Given the description of an element on the screen output the (x, y) to click on. 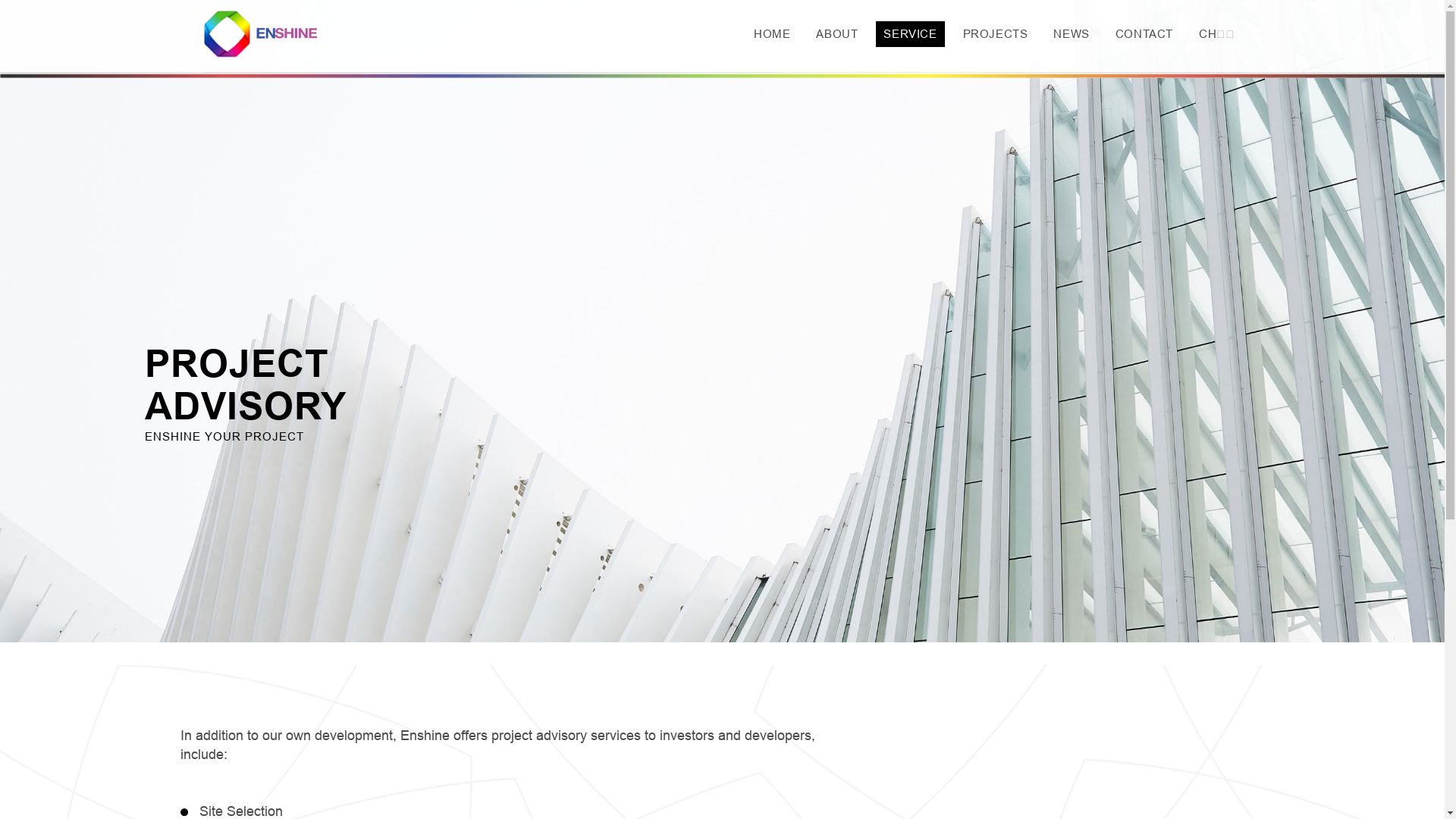
CONTACT Element type: text (1143, 34)
SERVICE Element type: text (909, 34)
ABOUT Element type: text (836, 34)
Enshine -  Element type: hover (259, 33)
NEWS Element type: text (1070, 34)
HOME Element type: text (771, 34)
PROJECTS Element type: text (995, 34)
